Given the description of an element on the screen output the (x, y) to click on. 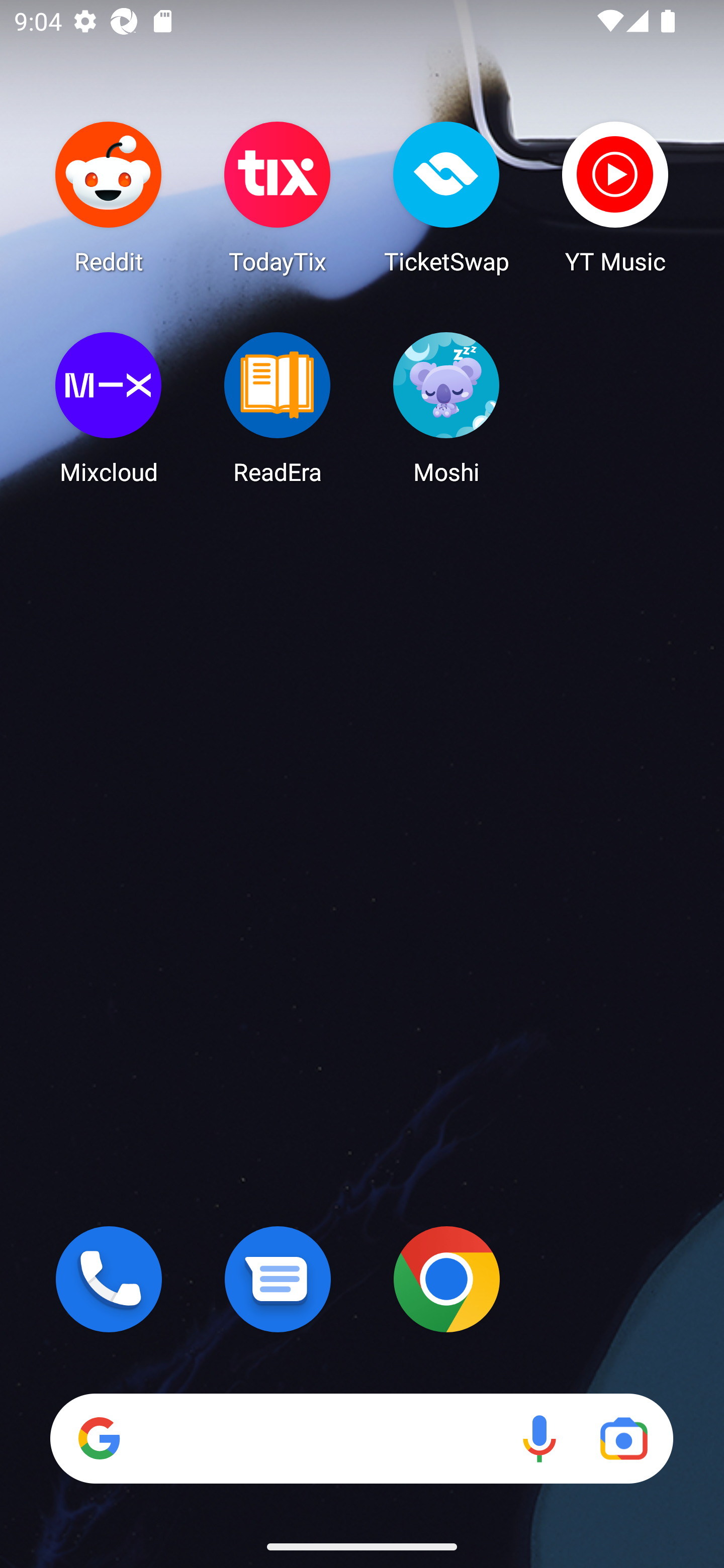
Reddit (108, 196)
TodayTix (277, 196)
TicketSwap (445, 196)
YT Music (615, 196)
Mixcloud (108, 407)
ReadEra (277, 407)
Moshi (445, 407)
Phone (108, 1279)
Messages (277, 1279)
Chrome (446, 1279)
Voice search (539, 1438)
Google Lens (623, 1438)
